Given the description of an element on the screen output the (x, y) to click on. 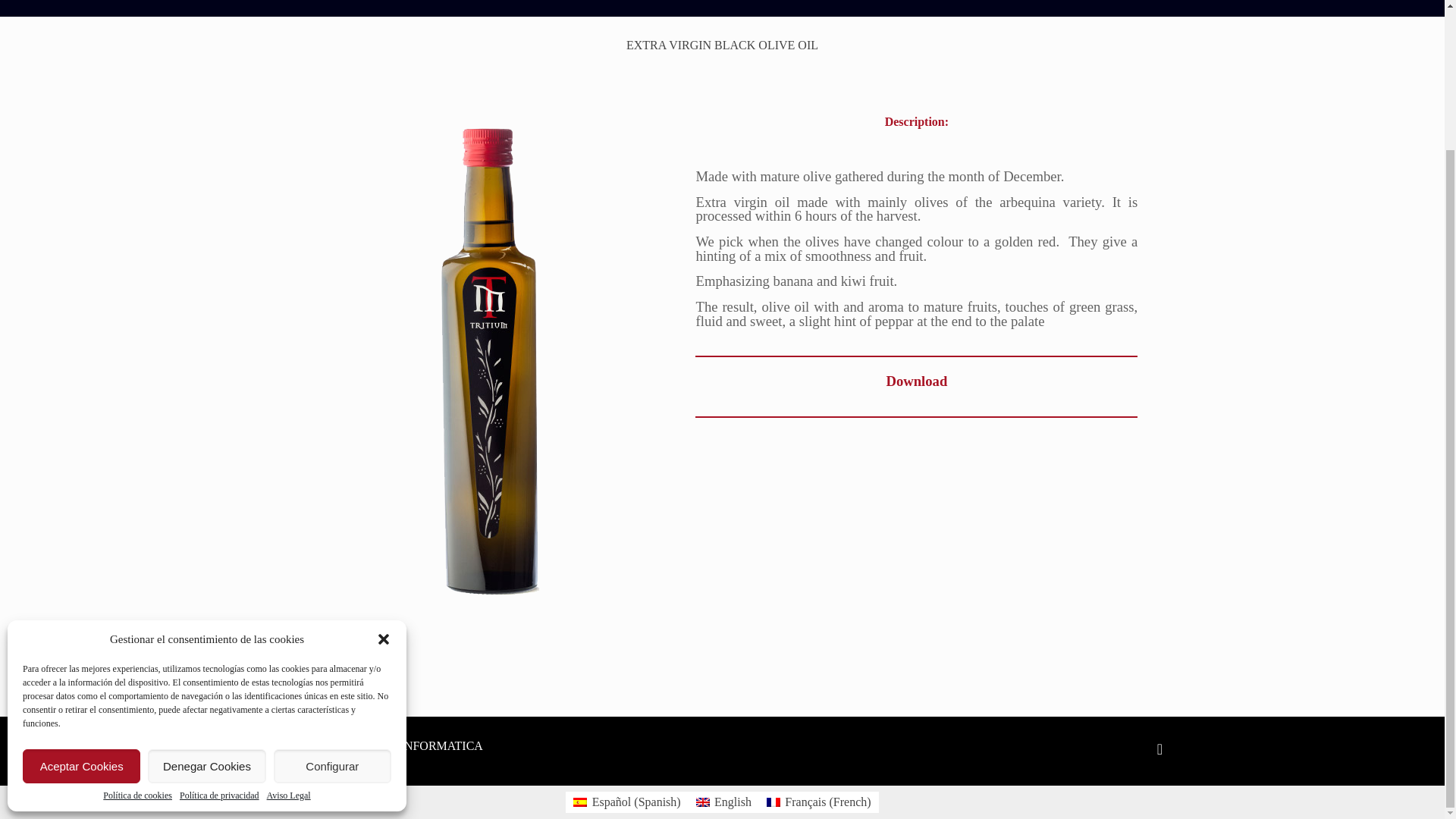
Aceptar Cookies (81, 593)
Denegar Cookies (206, 593)
Aviso Legal (288, 622)
Configurar (332, 593)
